Given the description of an element on the screen output the (x, y) to click on. 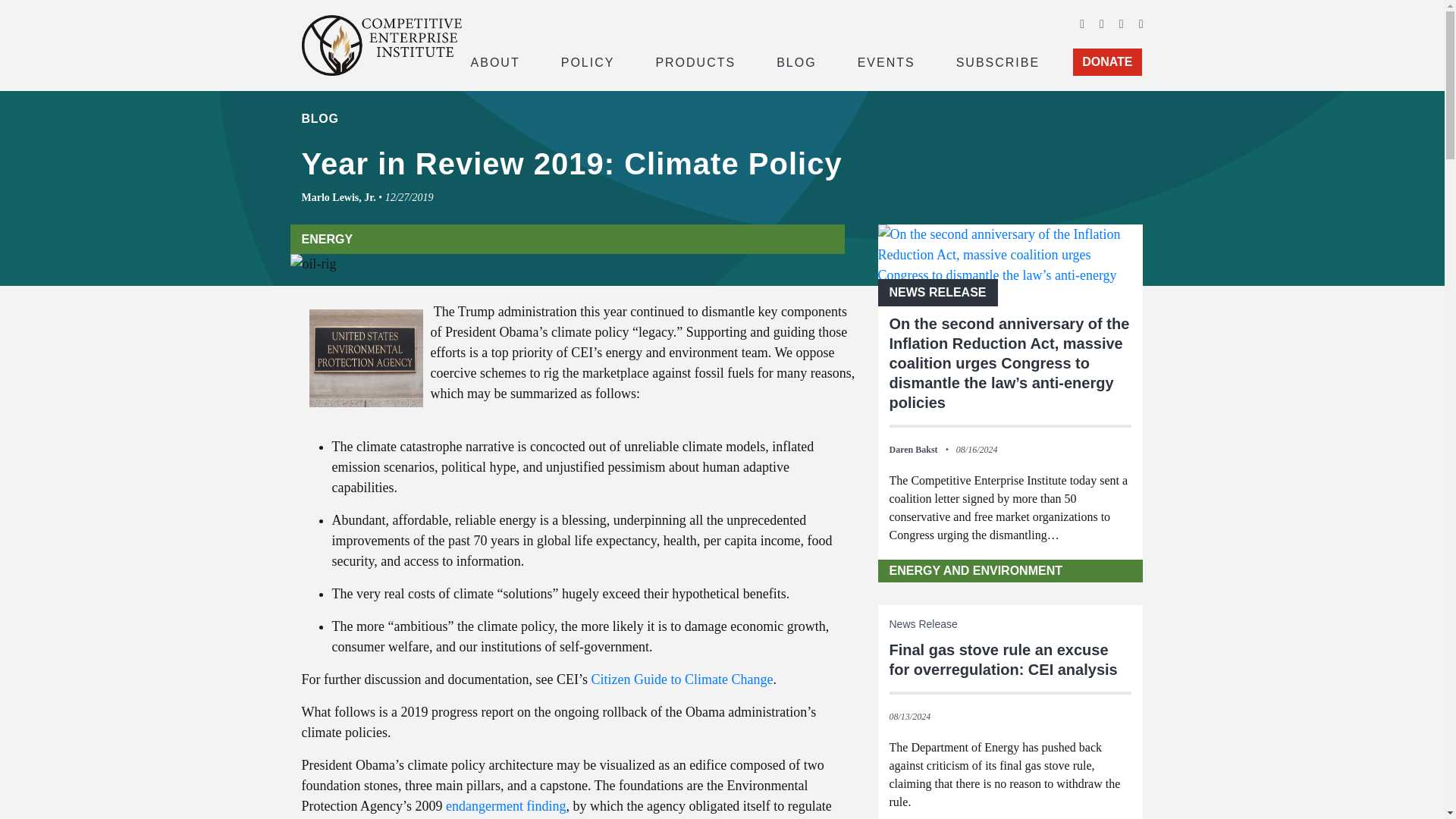
SUBSCRIBE (997, 61)
ABOUT (495, 61)
DONATE (1107, 62)
POLICY (588, 61)
BLOG (796, 61)
EVENTS (886, 61)
PRODUCTS (694, 61)
